Given the description of an element on the screen output the (x, y) to click on. 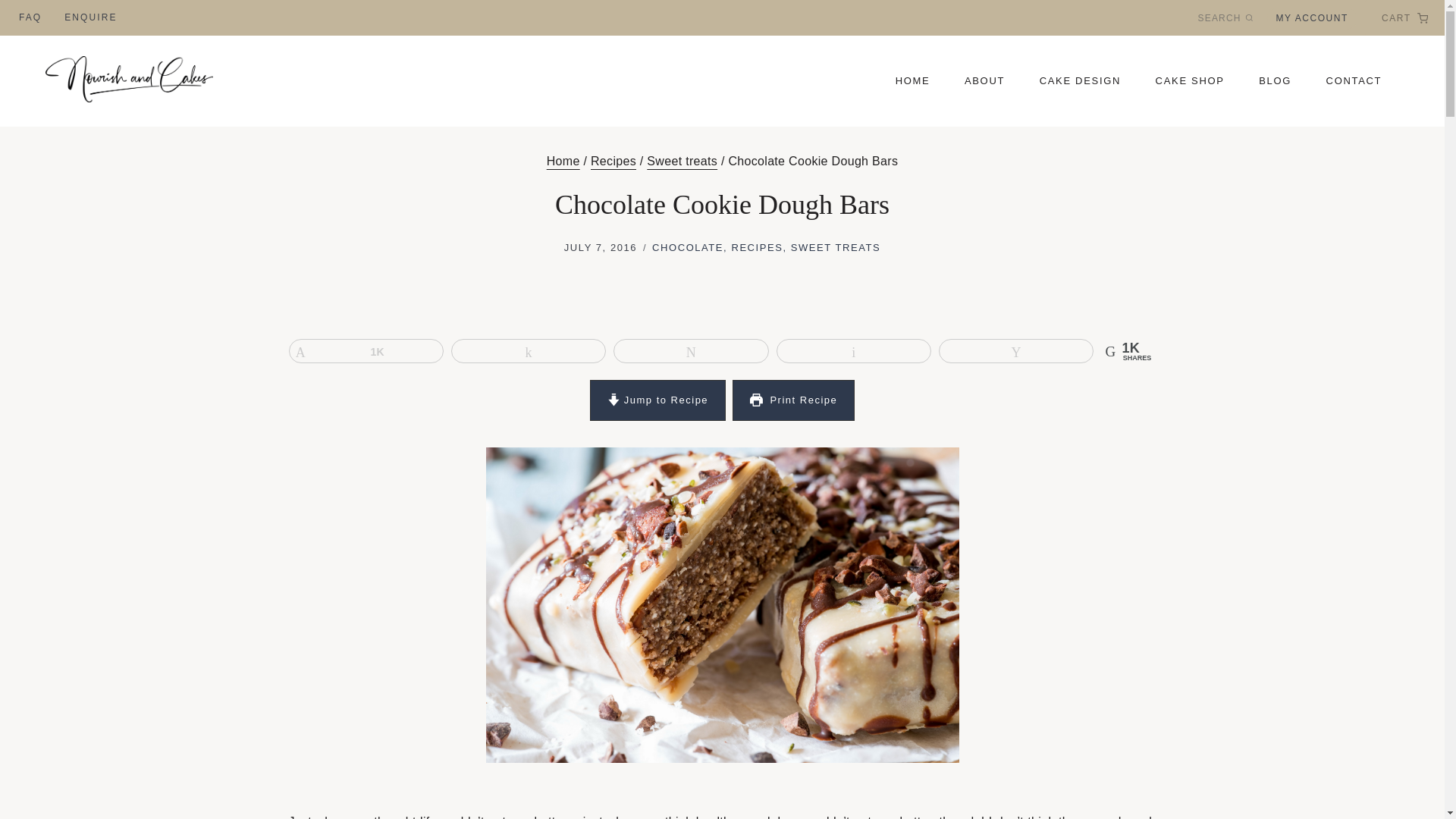
ENQUIRE (90, 17)
SEARCH (1225, 17)
Recipes (613, 160)
MY ACCOUNT (1311, 18)
HOME (912, 81)
CAKE DESIGN (1080, 81)
CONTACT (1353, 81)
RECIPES (756, 247)
Home (563, 160)
FAQ (29, 17)
